Given the description of an element on the screen output the (x, y) to click on. 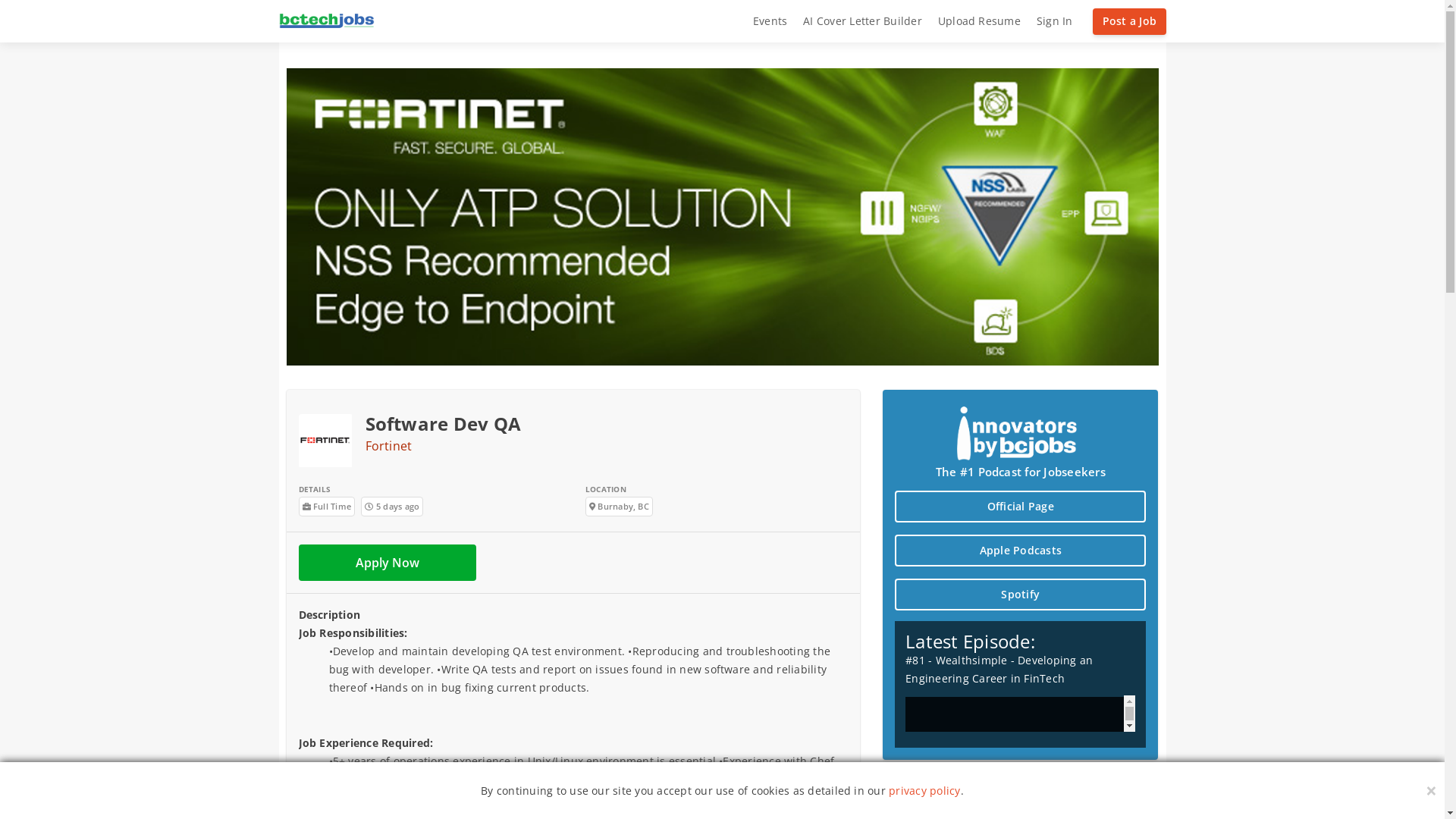
Sign In Element type: text (1054, 21)
Post a Job Element type: text (1128, 20)
Full Time Element type: text (326, 506)
Spotify Element type: text (1019, 594)
Upload Resume Element type: text (978, 21)
Apply Now Element type: text (387, 562)
Apple Podcasts Element type: text (1019, 550)
Fortinet Element type: text (388, 445)
Events Element type: text (769, 21)
privacy policy Element type: text (924, 789)
AI Cover Letter Builder Element type: text (862, 21)
Burnaby, BC Element type: text (618, 506)
Official Page Element type: text (1019, 506)
